Given the description of an element on the screen output the (x, y) to click on. 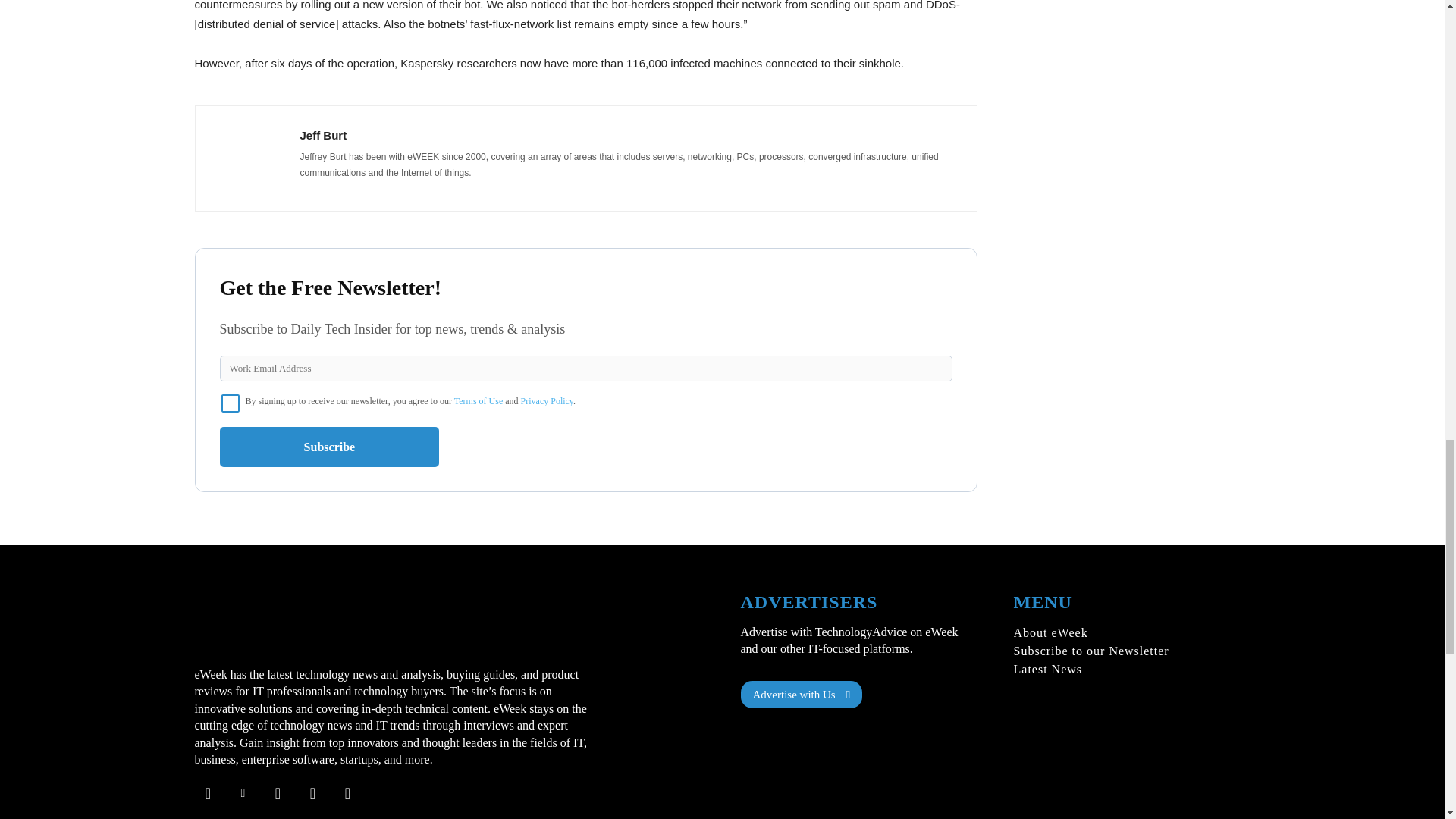
on (230, 402)
